Given the description of an element on the screen output the (x, y) to click on. 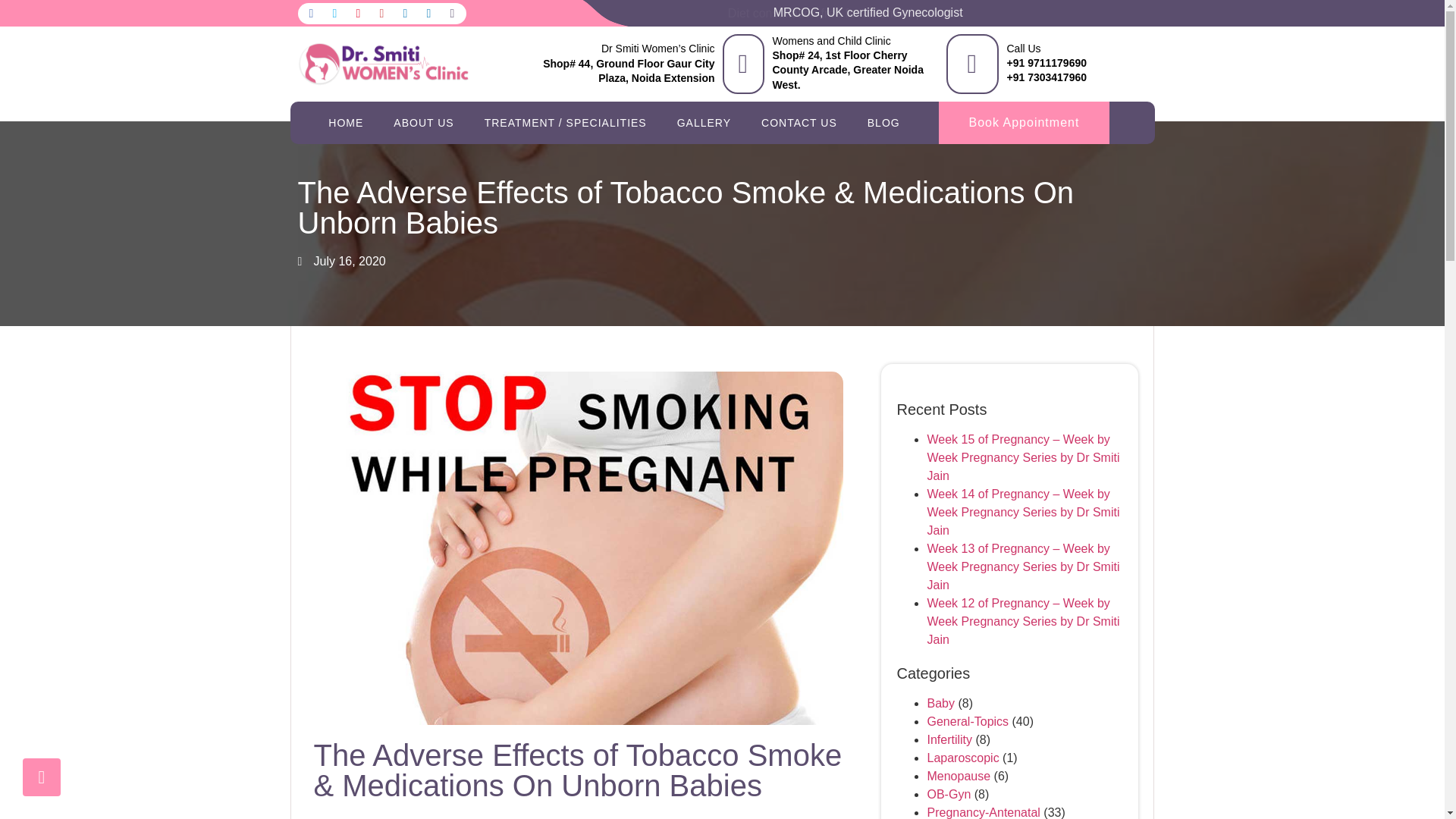
HOME (345, 122)
Womens and Child Clinic (830, 40)
ABOUT US (423, 122)
